Given the description of an element on the screen output the (x, y) to click on. 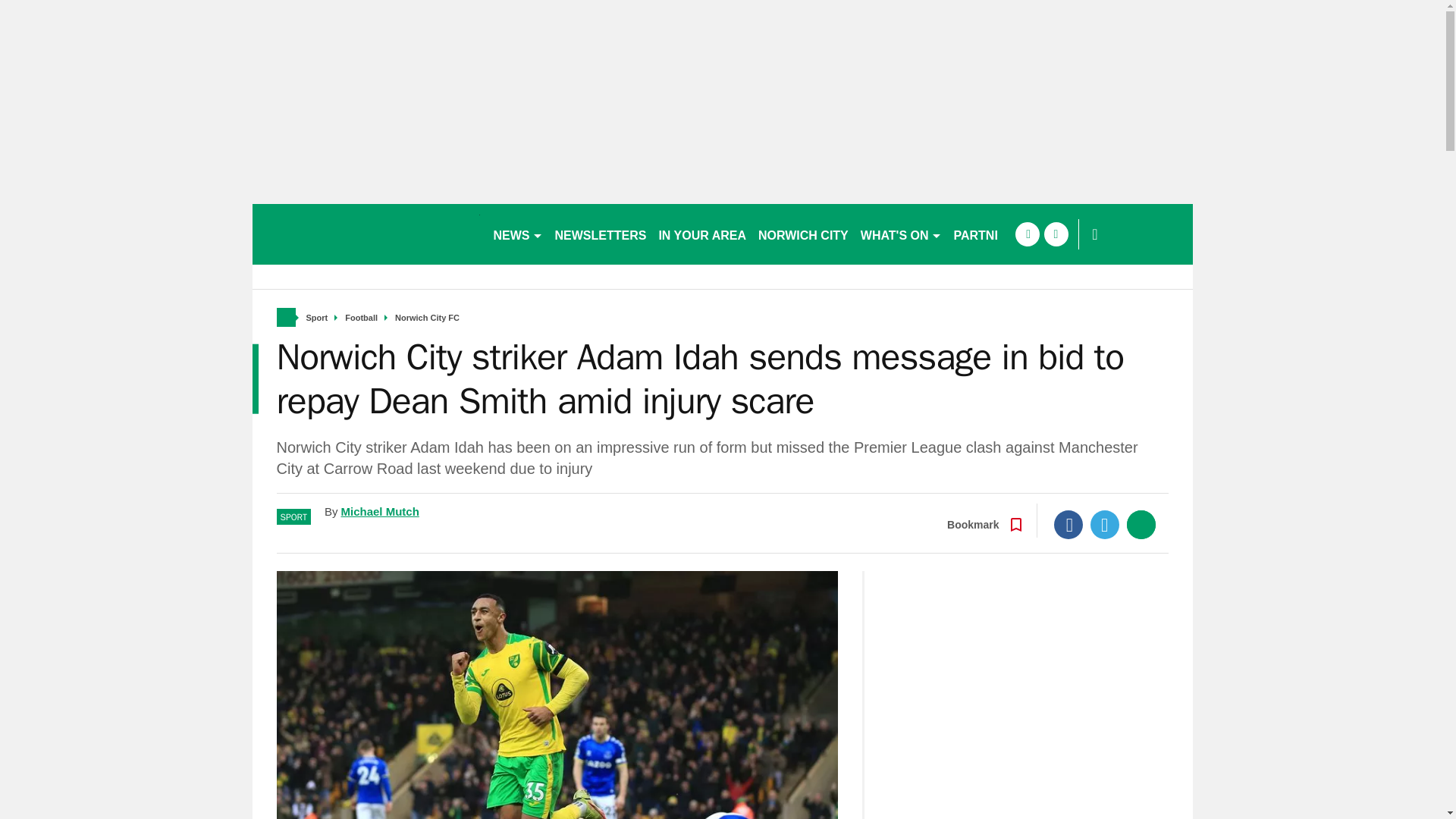
norfolklive (365, 233)
WHAT'S ON (900, 233)
NEWSLETTERS (600, 233)
facebook (1026, 233)
PARTNER STORIES (1010, 233)
Twitter (1104, 524)
IN YOUR AREA (702, 233)
NEWS (517, 233)
twitter (1055, 233)
NORWICH CITY (803, 233)
